Given the description of an element on the screen output the (x, y) to click on. 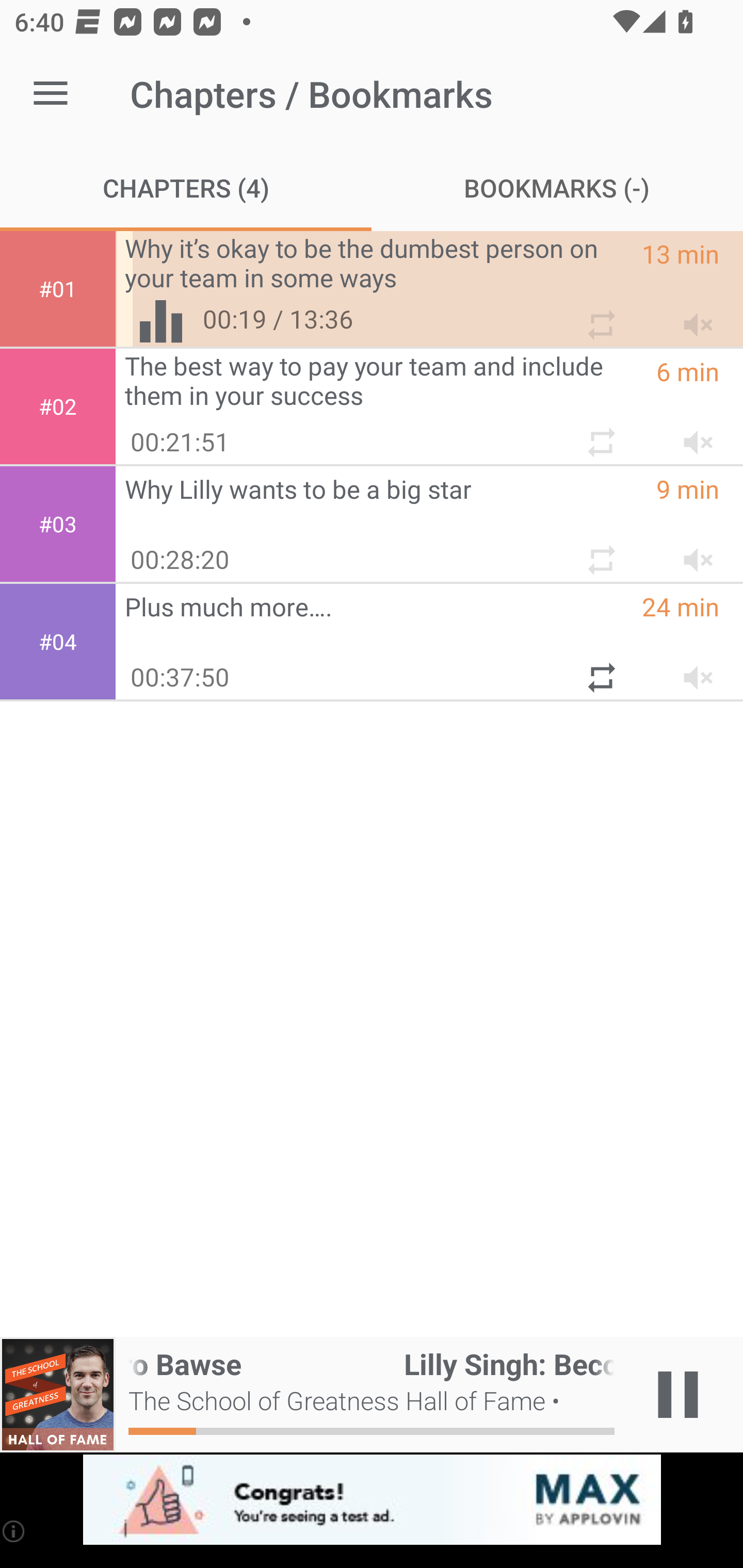
Open navigation sidebar (50, 93)
Bookmarks (-) BOOKMARKS (-) (557, 187)
Repeat chapter (599, 317)
Mute chapter (692, 317)
Repeat chapter (599, 435)
Mute chapter (692, 435)
Repeat chapter (599, 552)
Mute chapter (692, 552)
Repeat chapter (599, 670)
Mute chapter (692, 670)
Play / Pause (677, 1394)
app-monetization (371, 1500)
(i) (14, 1531)
